Given the description of an element on the screen output the (x, y) to click on. 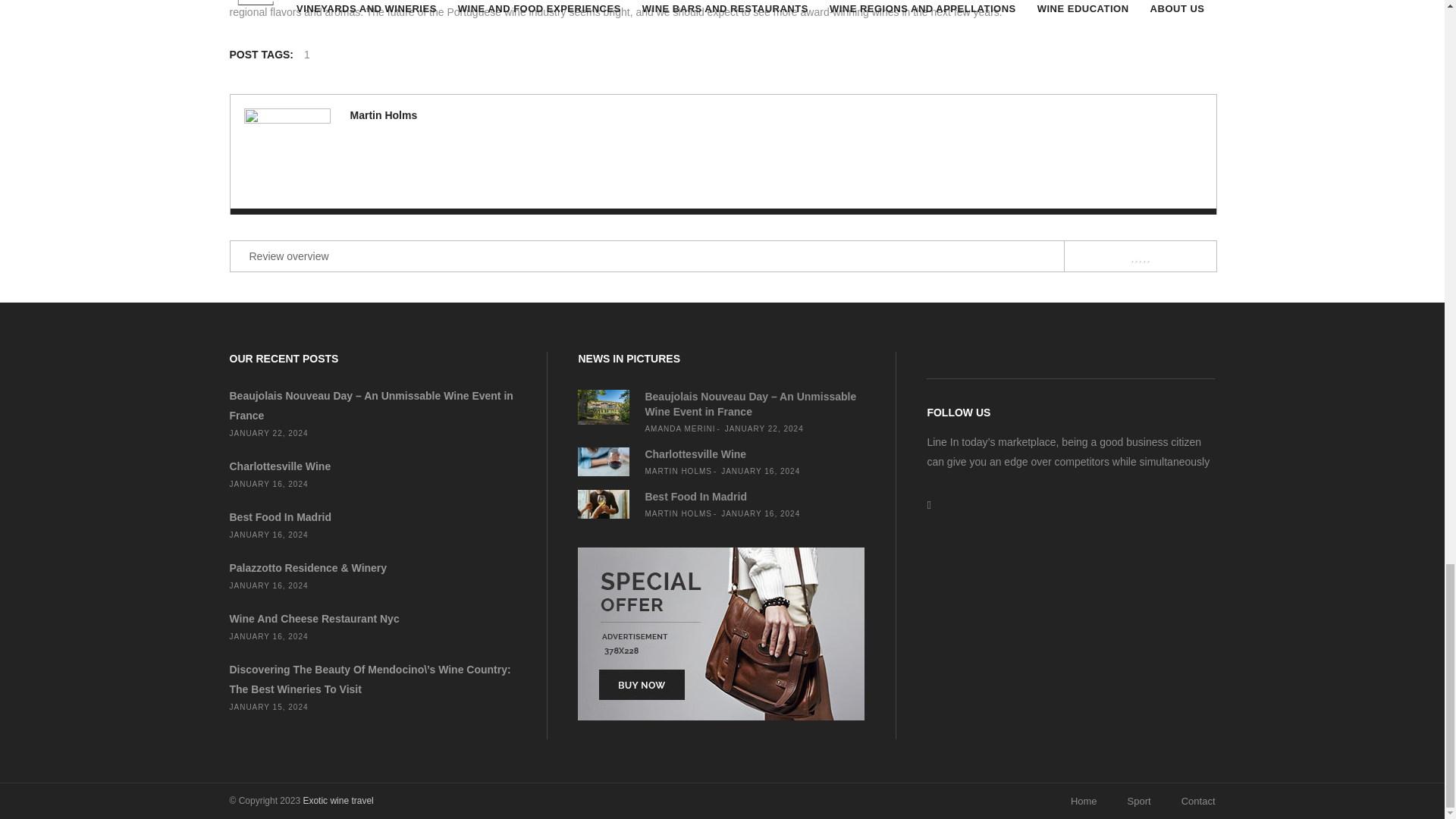
Martin Holms (383, 114)
Charlottesville Wine (279, 466)
Best Food In Madrid (279, 517)
Wine And Cheese Restaurant Nyc (313, 618)
1 (307, 54)
